Given the description of an element on the screen output the (x, y) to click on. 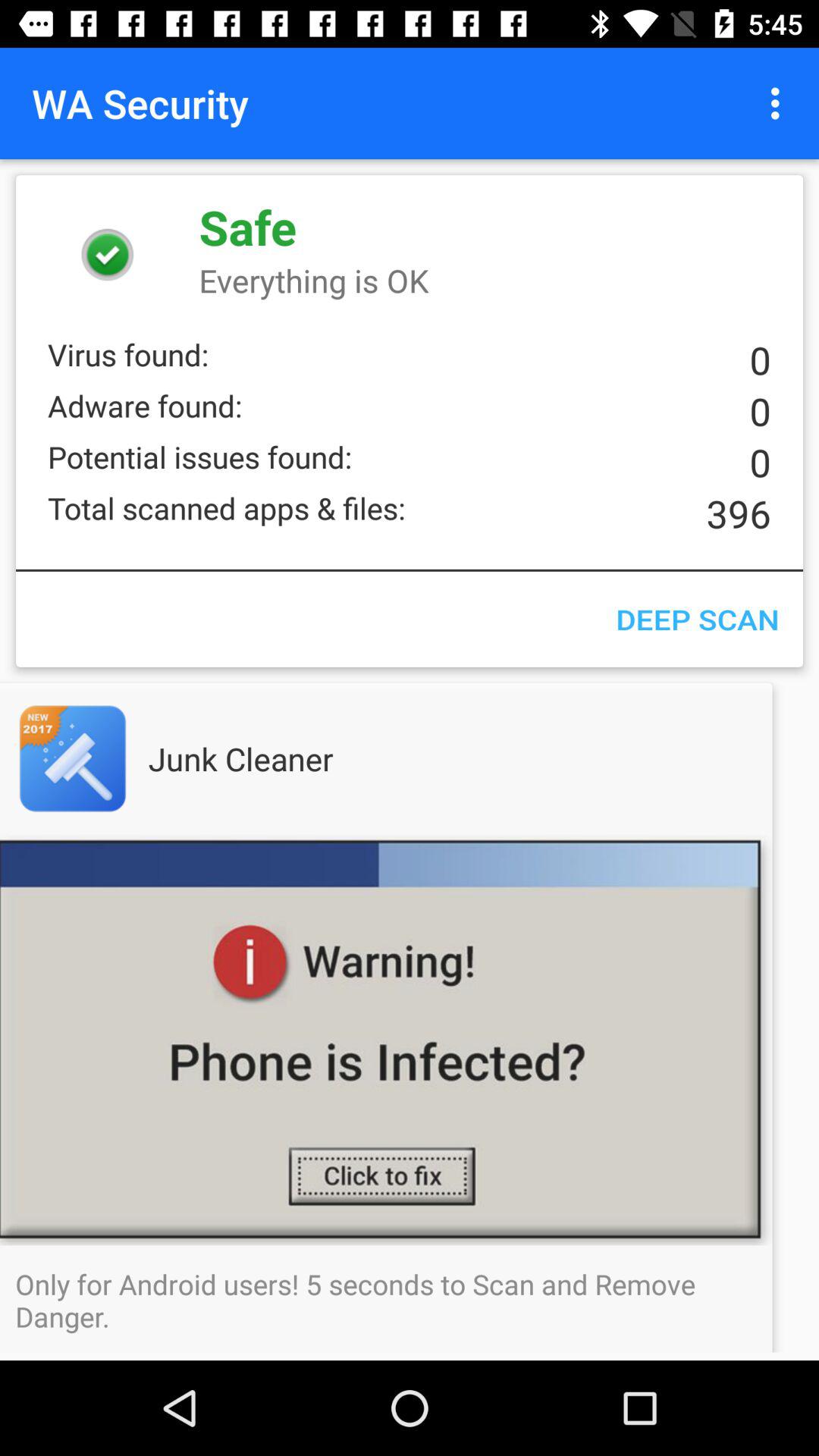
open icon next to the wa security icon (779, 103)
